Given the description of an element on the screen output the (x, y) to click on. 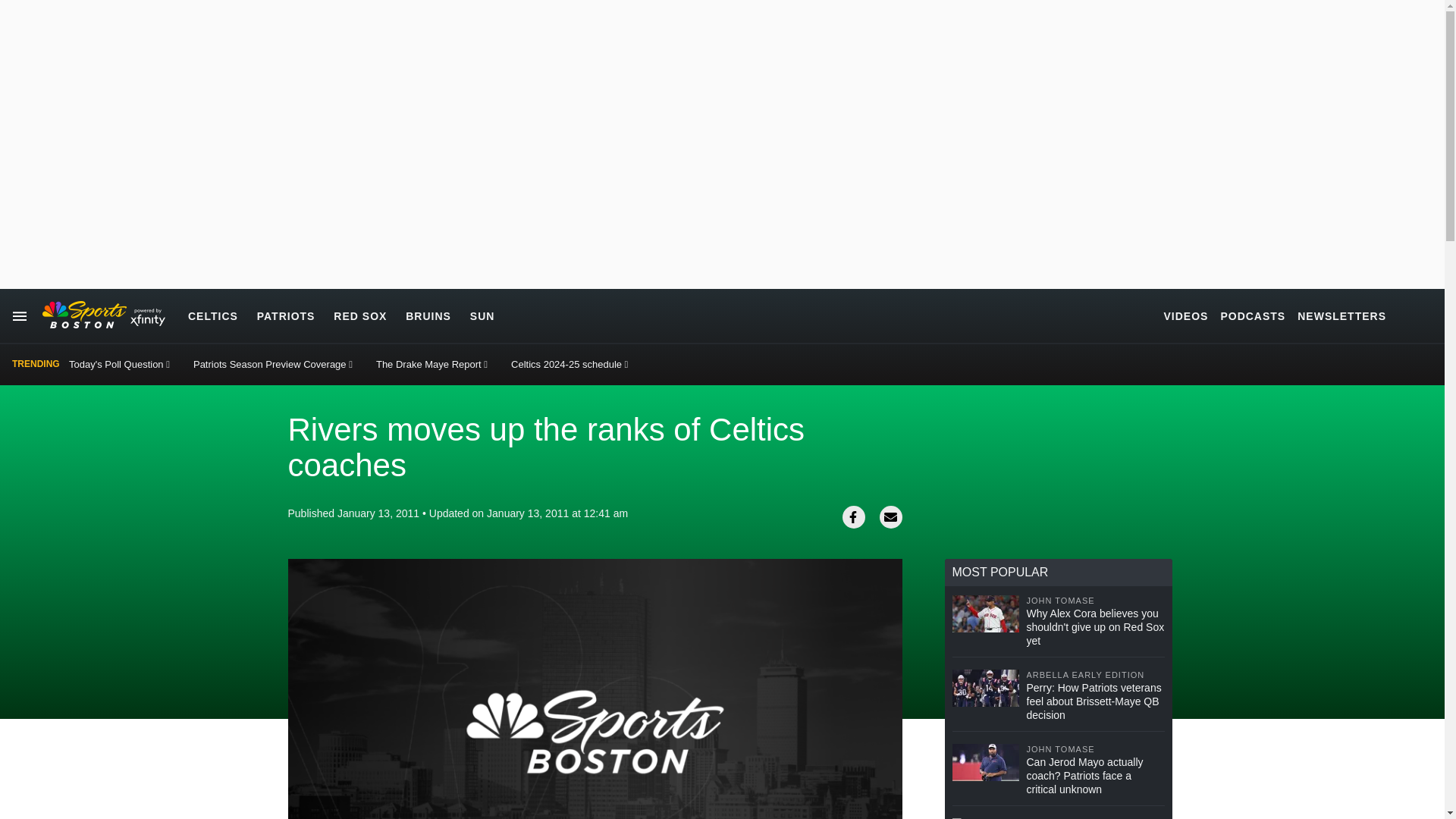
PODCASTS (1252, 315)
NEWSLETTERS (1341, 315)
RED SOX (360, 315)
VIDEOS (1185, 315)
BRUINS (428, 315)
CELTICS (212, 315)
PATRIOTS (286, 315)
Why Alex Cora believes you shouldn't give up on Red Sox yet (1095, 626)
